Given the description of an element on the screen output the (x, y) to click on. 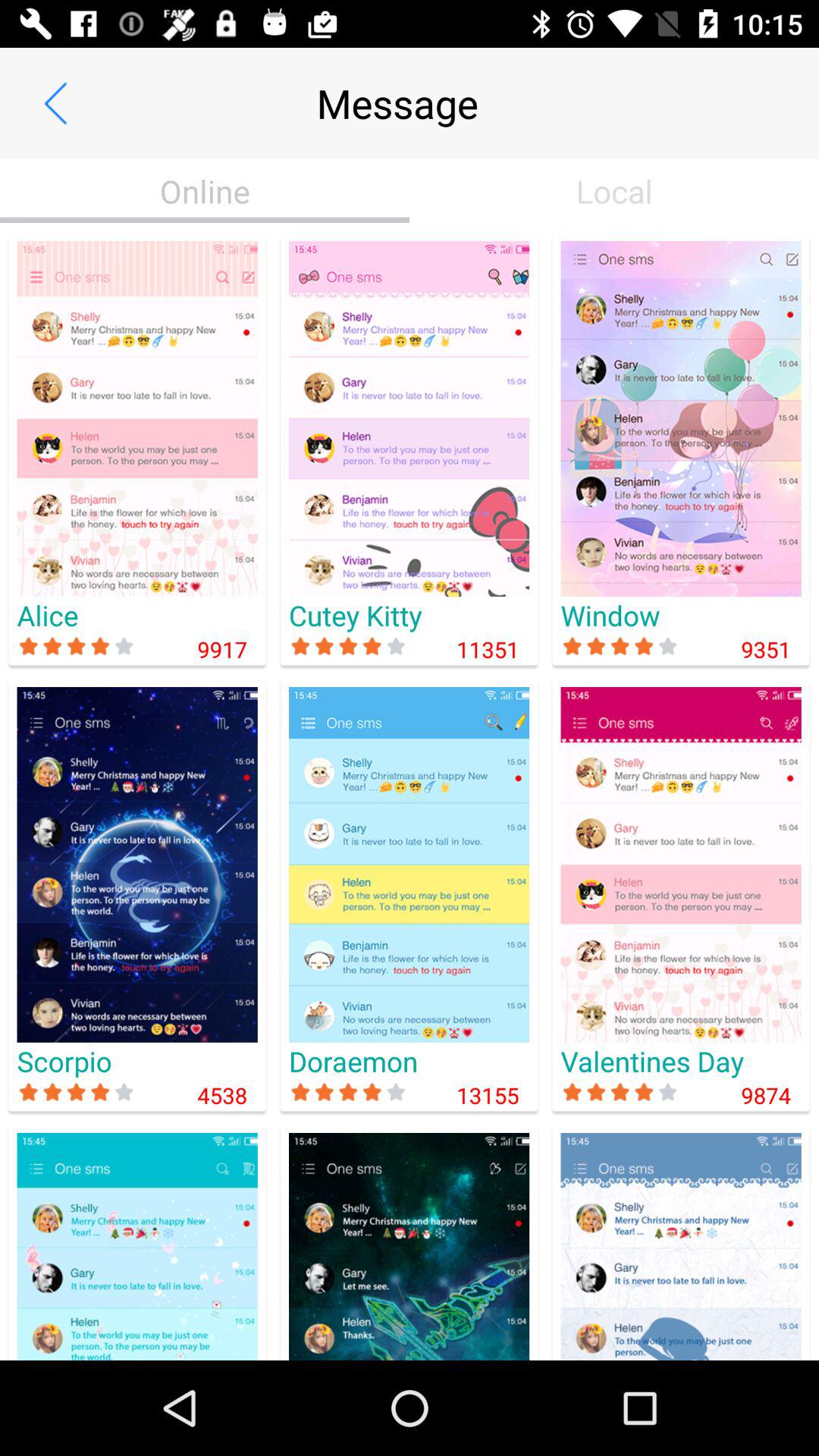
click app next to the message item (55, 103)
